Given the description of an element on the screen output the (x, y) to click on. 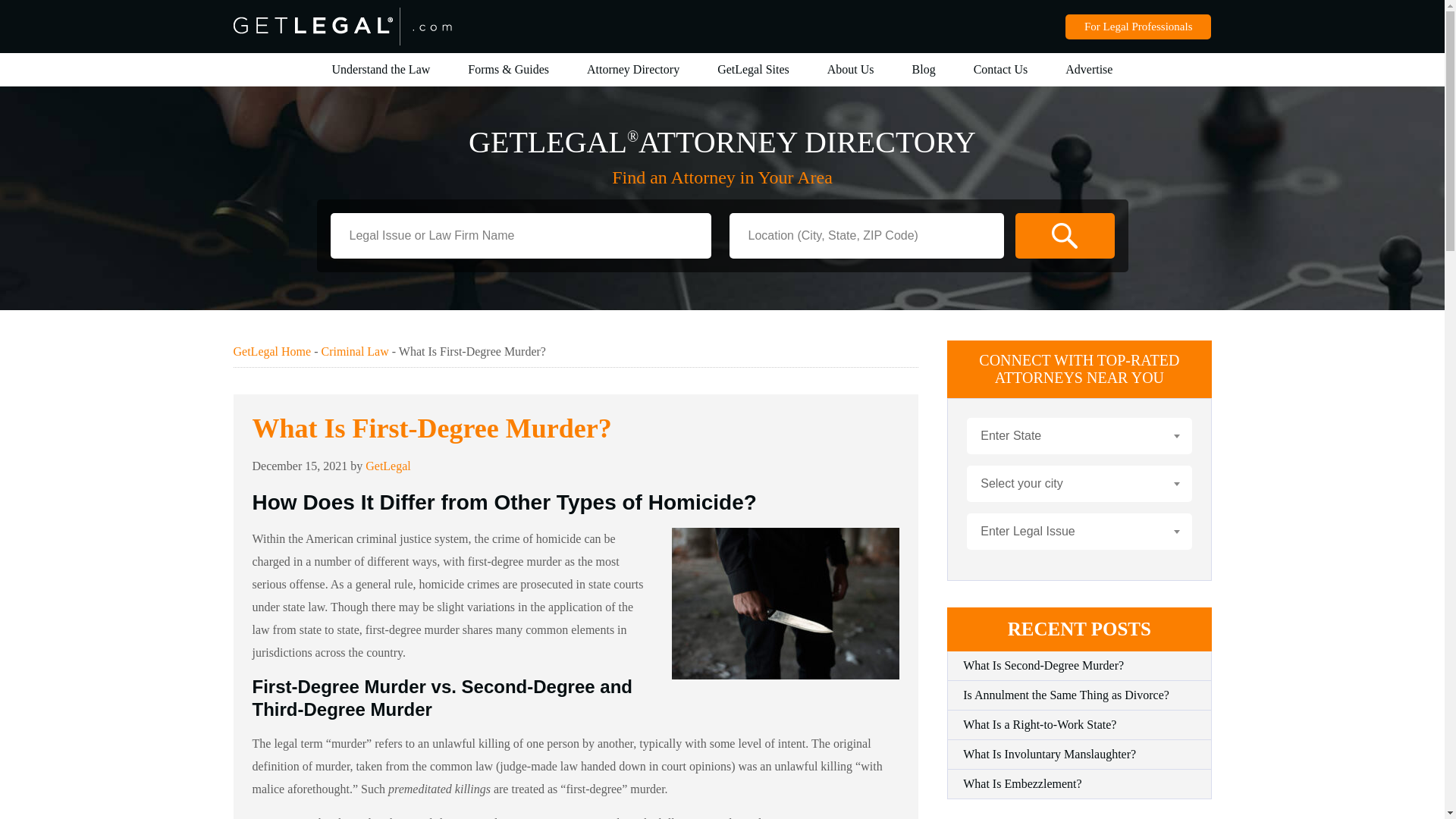
Advertise (1088, 69)
Attorney Directory (632, 69)
Advertise (1088, 69)
GetLegal Sites (753, 69)
GetLegal Sites (753, 69)
About Us (851, 69)
Attorney Directory (632, 69)
For Legal Professionals (1138, 25)
About Us (851, 69)
Criminal Law (354, 350)
What Is First-Degree Murder? 1 (785, 603)
Understand the Law (380, 69)
Contact Us (1000, 69)
GetLegal Home (271, 350)
Search (1063, 235)
